Given the description of an element on the screen output the (x, y) to click on. 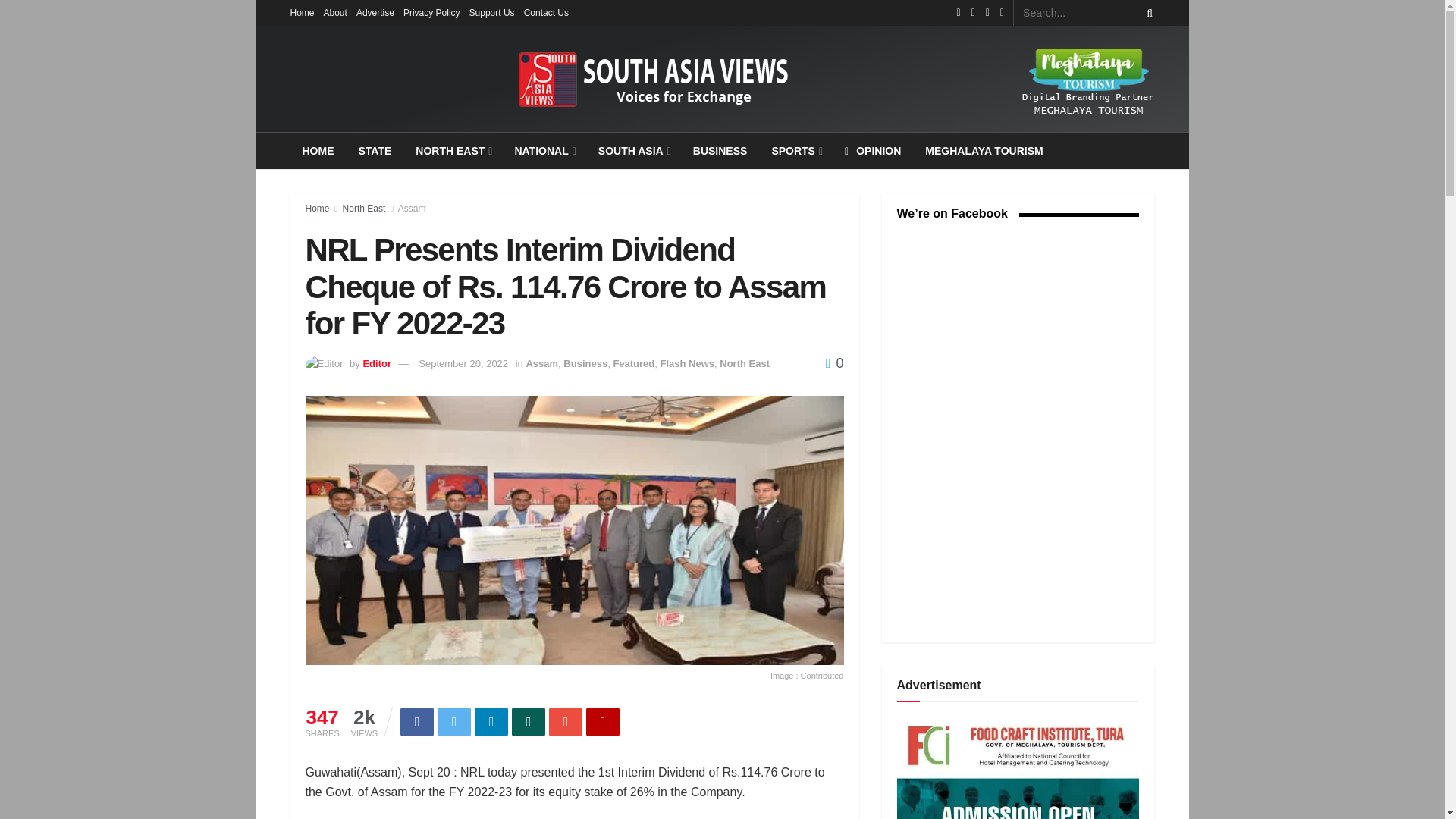
About (335, 12)
Contact Us (546, 12)
STATE (374, 150)
Privacy Policy (431, 12)
NORTH EAST (452, 150)
HOME (317, 150)
Support Us (491, 12)
Home (301, 12)
Advertisement (1017, 768)
Advertise (375, 12)
